Given the description of an element on the screen output the (x, y) to click on. 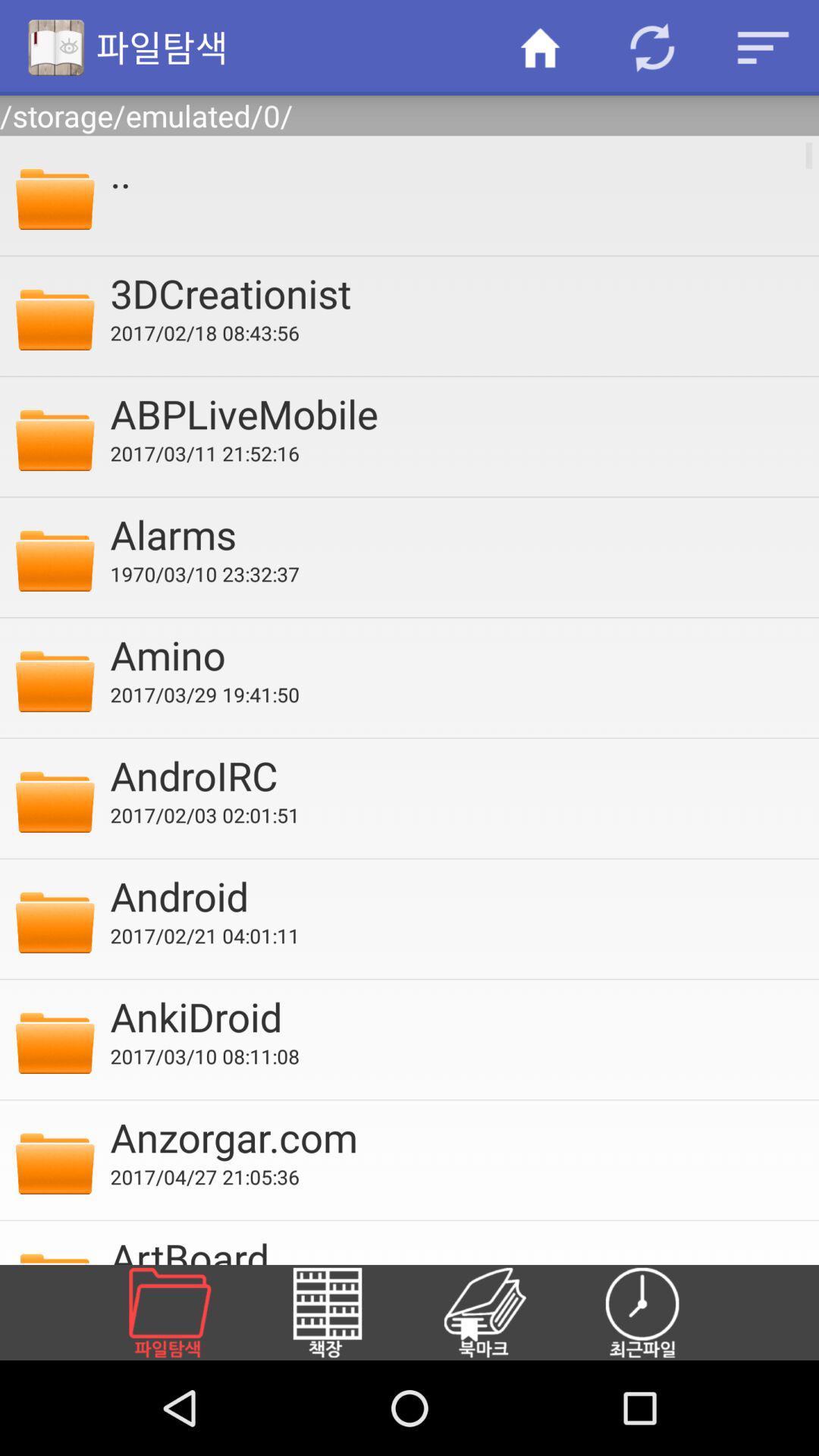
turn on the android item (454, 895)
